Given the description of an element on the screen output the (x, y) to click on. 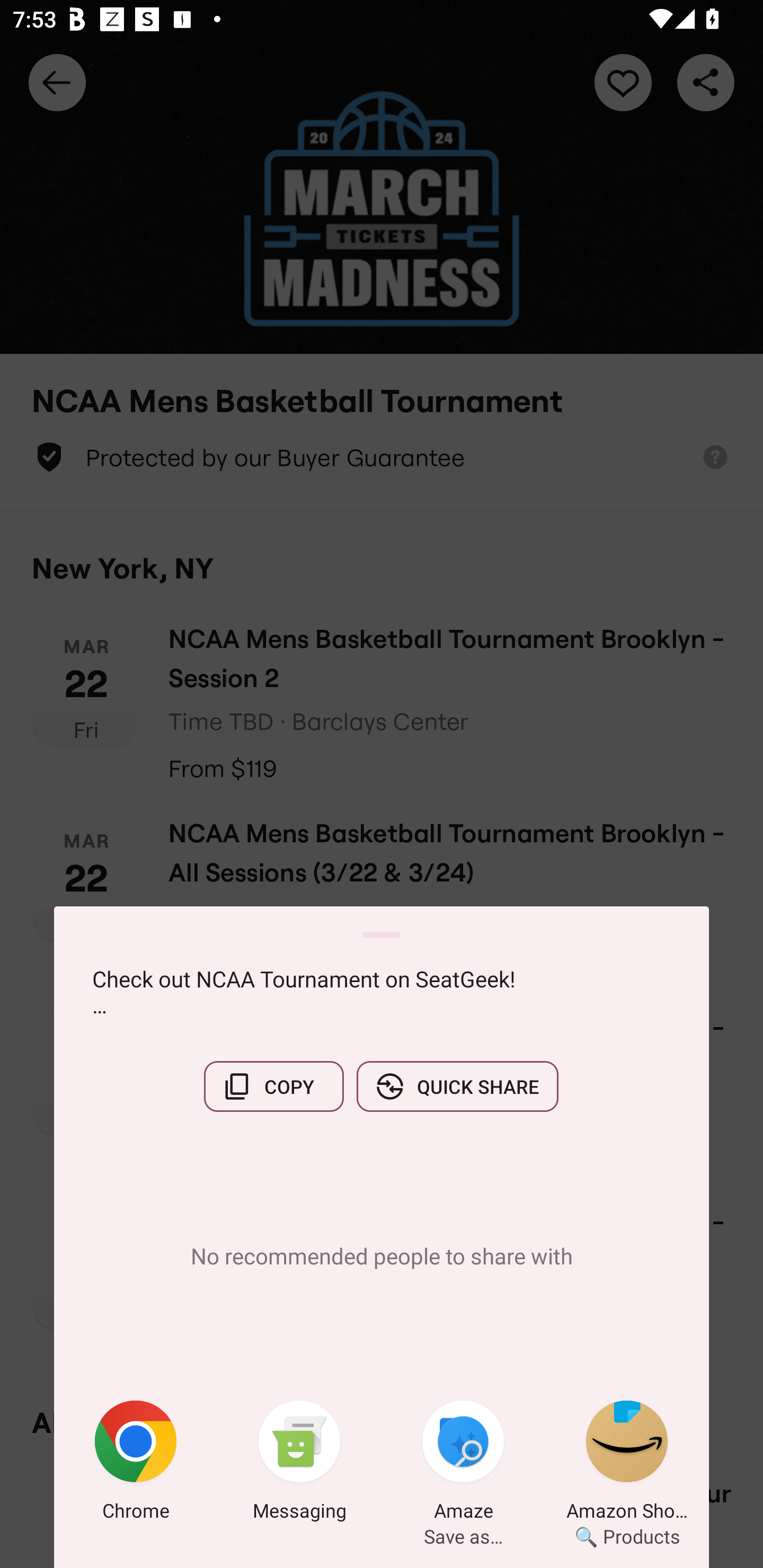
COPY (273, 1086)
QUICK SHARE (457, 1086)
Chrome (135, 1463)
Messaging (299, 1463)
Amaze Save as… (463, 1463)
Amazon Shopping 🔍 Products (626, 1463)
